Given the description of an element on the screen output the (x, y) to click on. 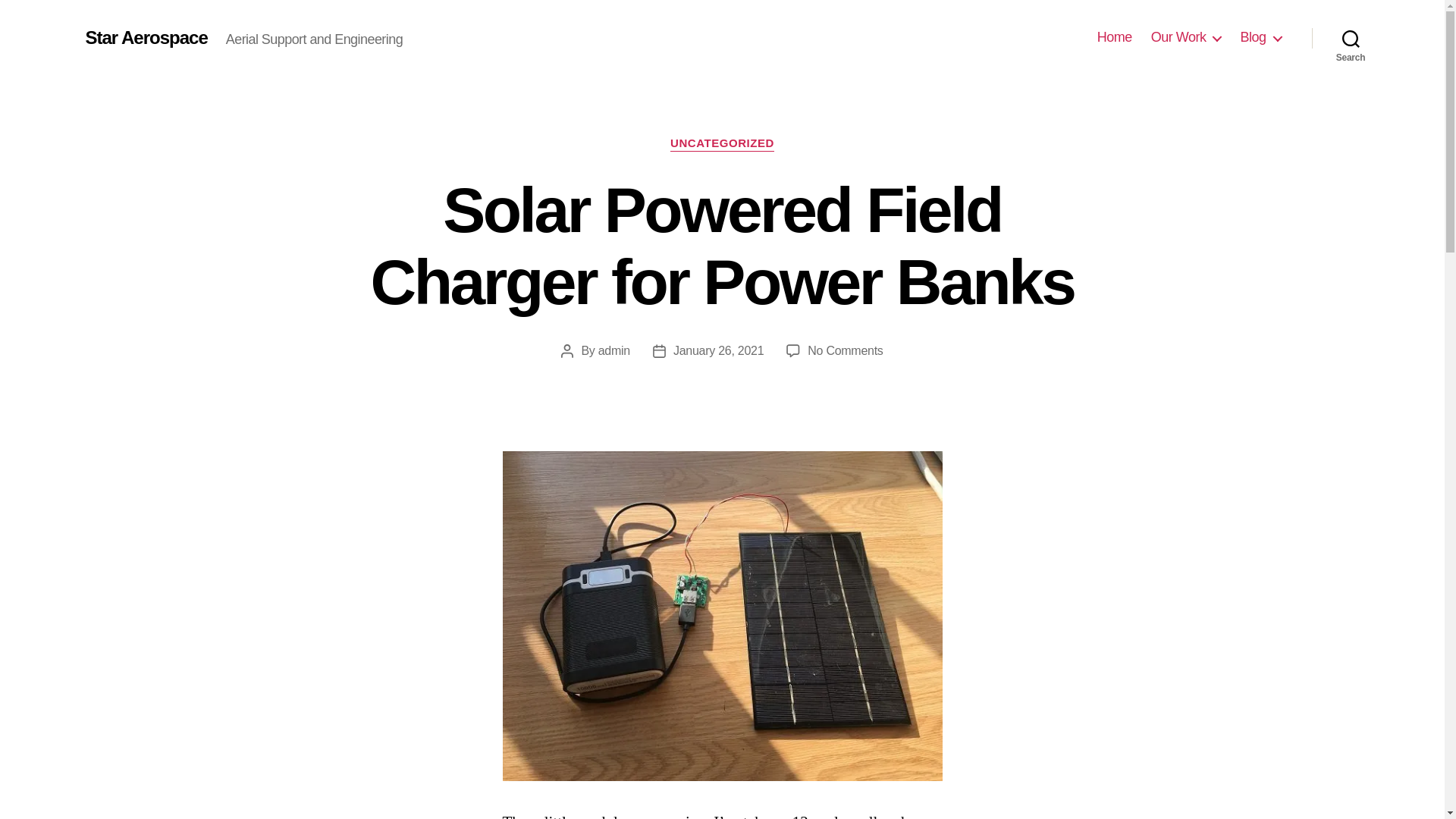
January 26, 2021 (717, 350)
Home (1114, 37)
Search (1350, 37)
Blog (1260, 37)
admin (845, 350)
UNCATEGORIZED (614, 350)
Our Work (721, 143)
Star Aerospace (1186, 37)
